Given the description of an element on the screen output the (x, y) to click on. 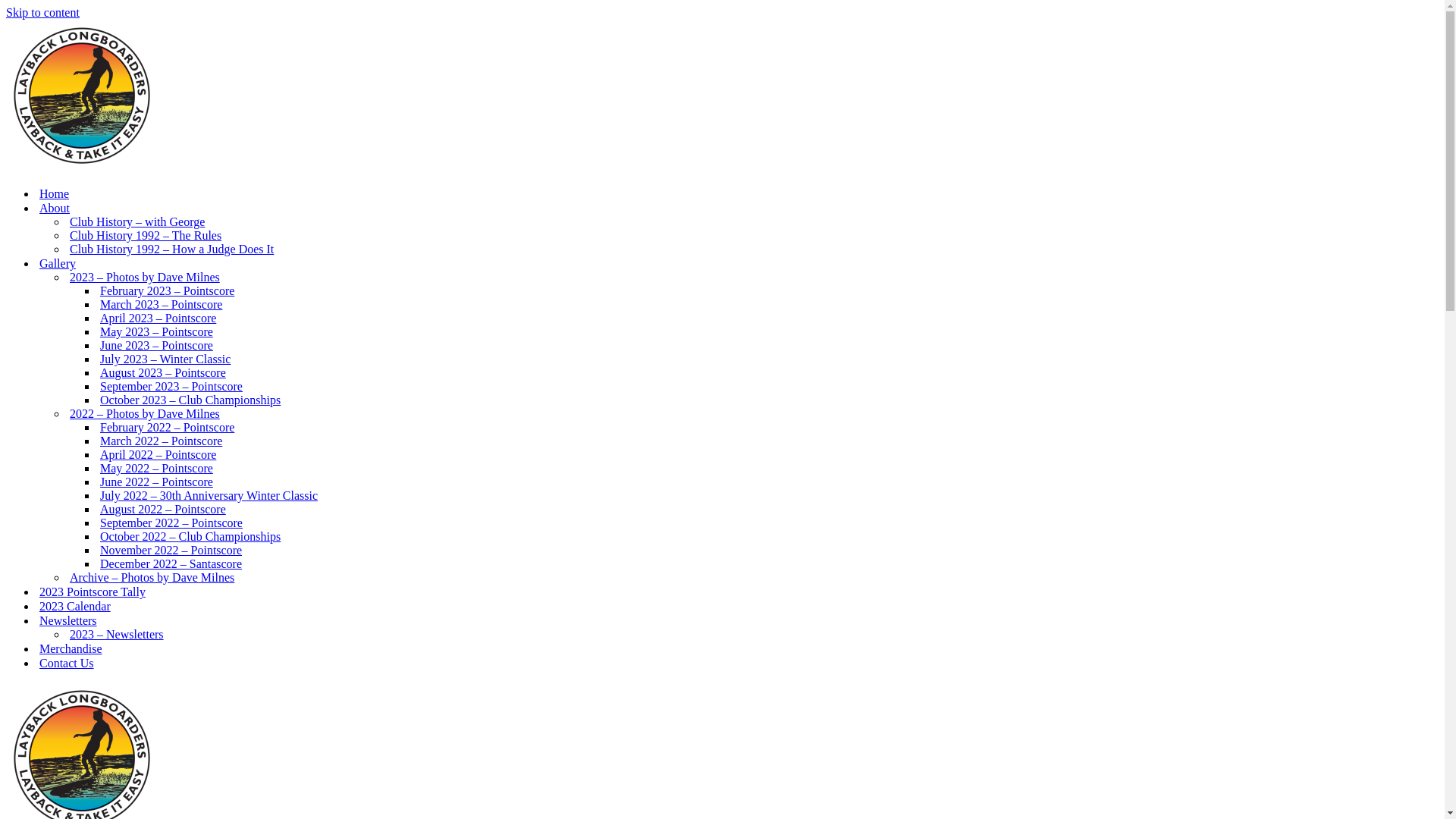
2023 Calendar Element type: text (74, 606)
Merchandise Element type: text (70, 648)
Skip to content Element type: text (42, 12)
2023 Pointscore Tally Element type: text (92, 591)
Home Element type: text (54, 193)
About Element type: text (54, 207)
Newsletters Element type: text (68, 620)
Contact Us Element type: text (66, 662)
Layback Longboarders - Home Element type: hover (81, 166)
Gallery Element type: text (57, 263)
